Given the description of an element on the screen output the (x, y) to click on. 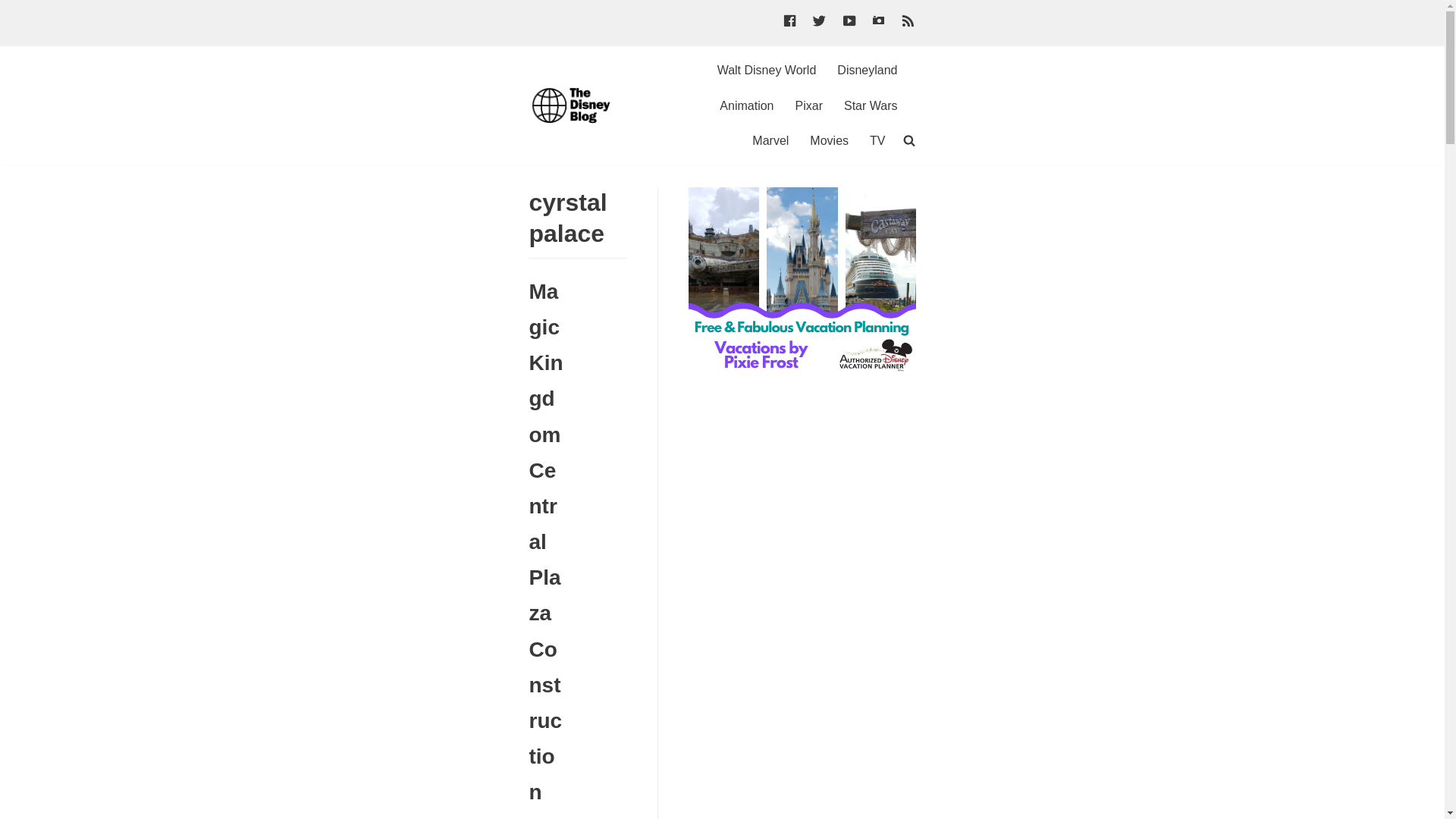
Pixar (808, 105)
Disneyland (866, 69)
Walt Disney World (766, 69)
Movies (828, 140)
Star Wars (871, 105)
The Disney Blog (574, 104)
Animation (746, 105)
Marvel (770, 140)
Skip to content (15, 7)
